Given the description of an element on the screen output the (x, y) to click on. 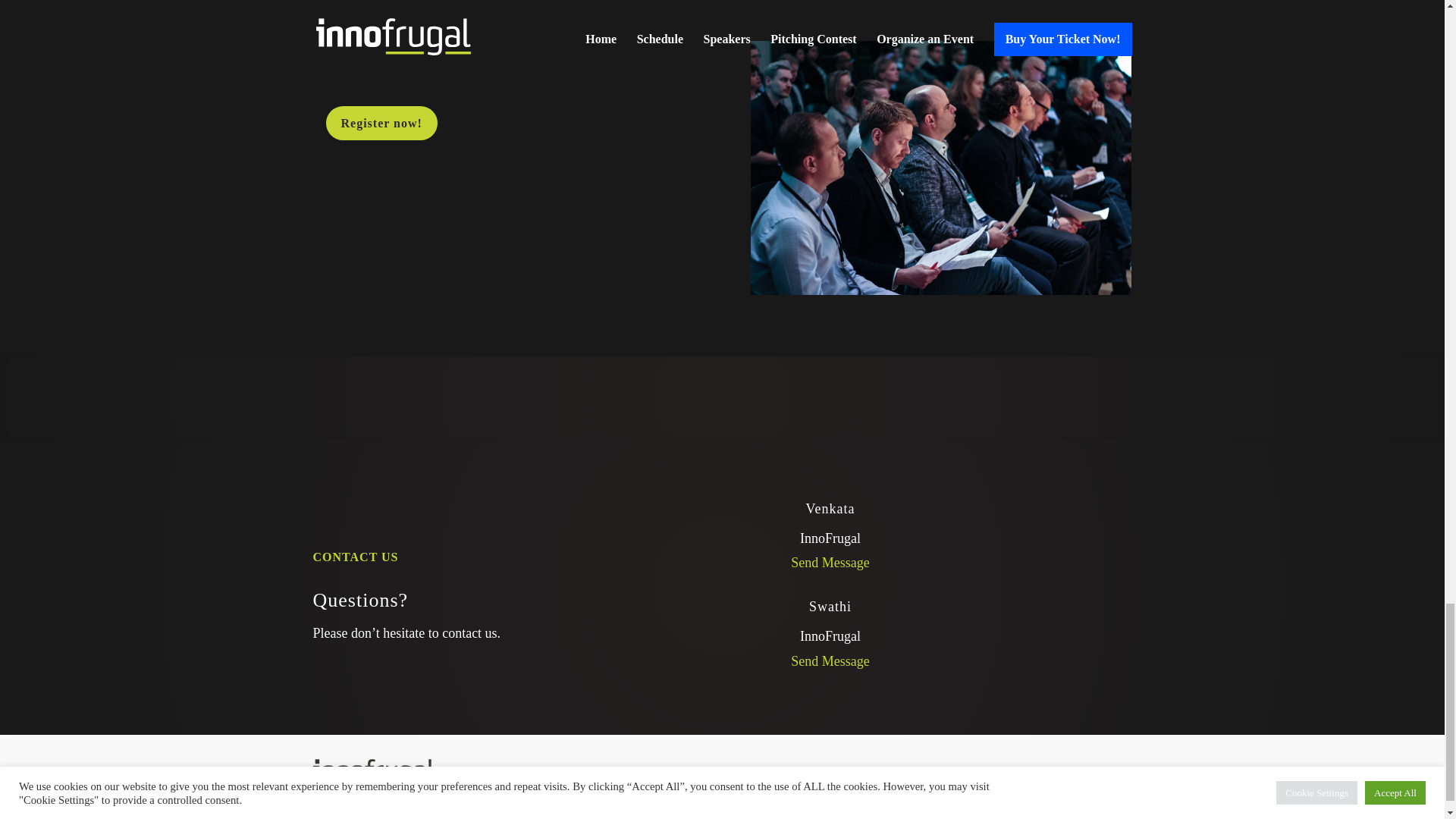
Send Message (829, 562)
innofrugal2019-33 (941, 167)
Send Message (829, 661)
Privacy Policy (745, 776)
footer-link (745, 776)
Register now! (382, 123)
